Given the description of an element on the screen output the (x, y) to click on. 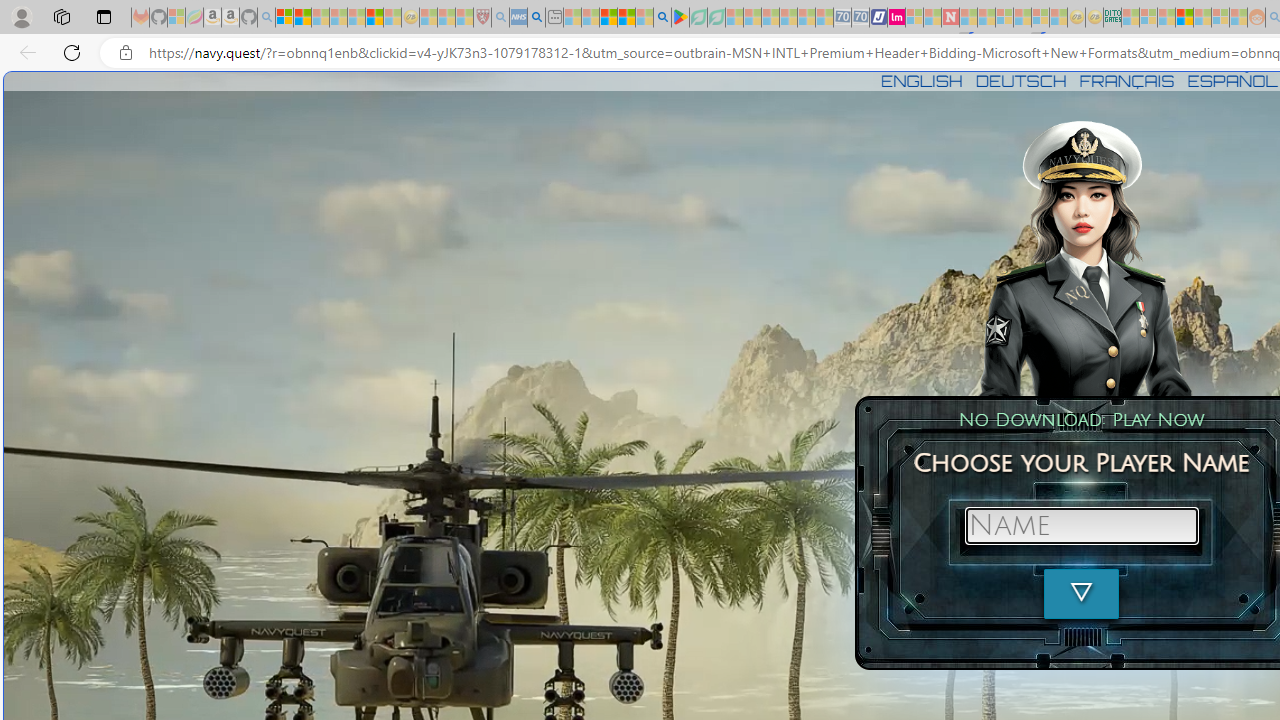
Name (1081, 525)
